Given the description of an element on the screen output the (x, y) to click on. 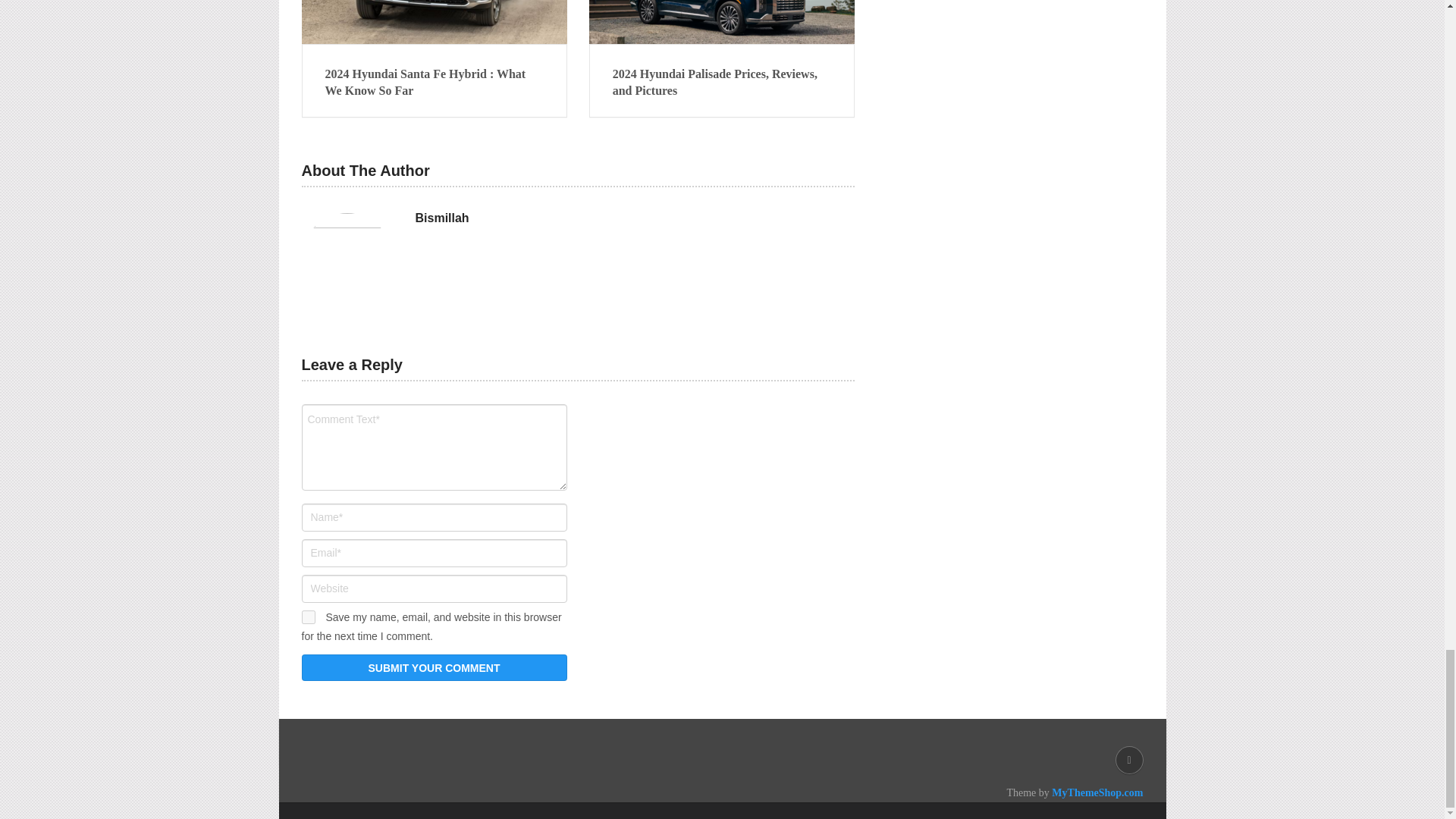
2024 Hyundai Palisade Prices, Reviews, and Pictures (721, 82)
2024 Hyundai Santa Fe Hybrid : What We Know So Far (433, 82)
yes (308, 617)
2024 Hyundai Santa Fe Hybrid : What We Know So Far (434, 22)
2024 Hyundai Palisade Prices, Reviews, and Pictures (721, 22)
Submit Your Comment (434, 667)
